Given the description of an element on the screen output the (x, y) to click on. 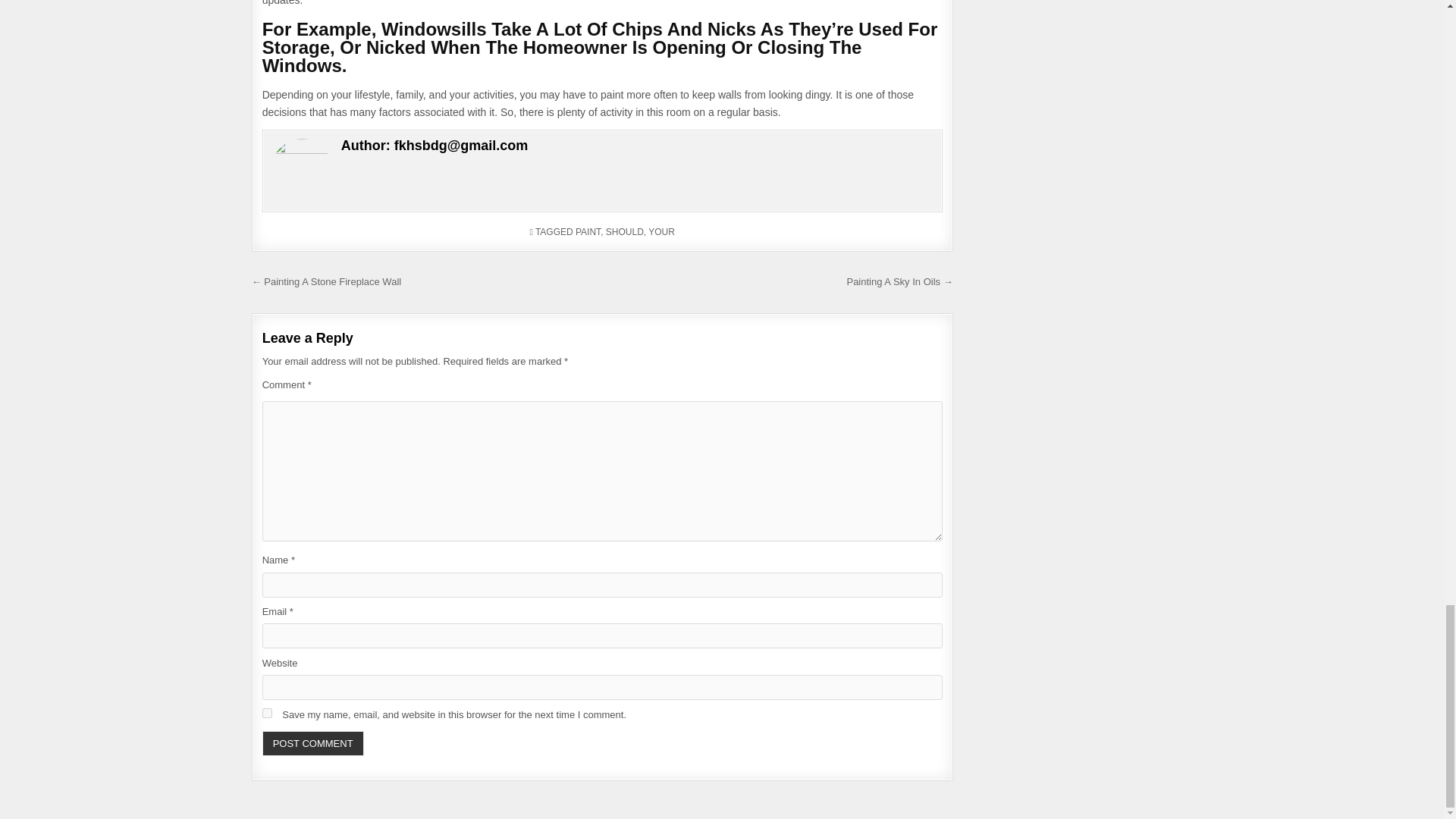
yes (267, 713)
Post Comment (313, 743)
PAINT (587, 231)
Post Comment (313, 743)
YOUR (661, 231)
SHOULD (624, 231)
